Given the description of an element on the screen output the (x, y) to click on. 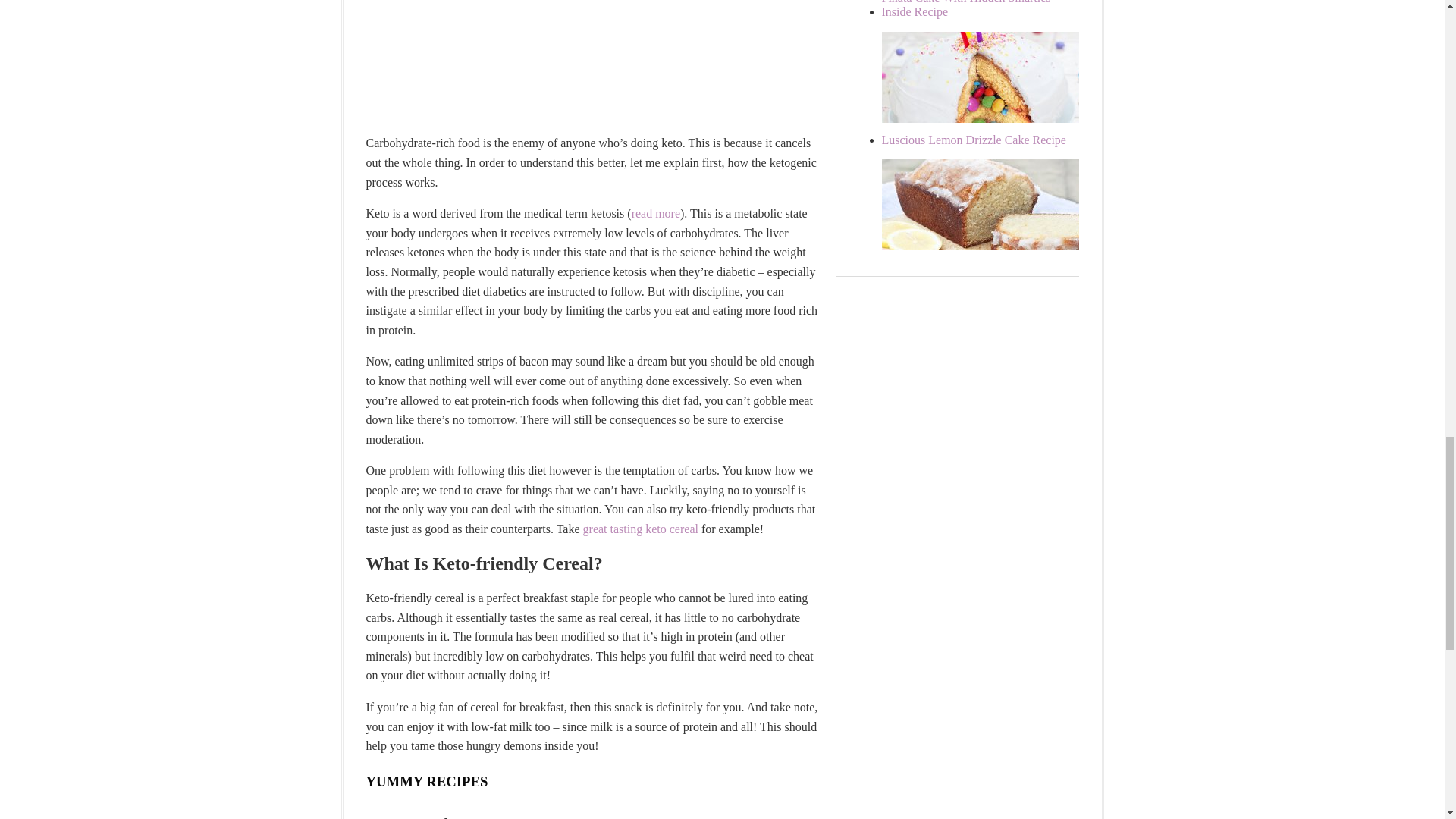
Luscious Lemon Drizzle Cake Recipe (972, 139)
Pinata Cake With Hidden Smarties Inside Recipe (964, 9)
Pinata Cake With Hidden Smarties Inside Recipe (994, 118)
